Given the description of an element on the screen output the (x, y) to click on. 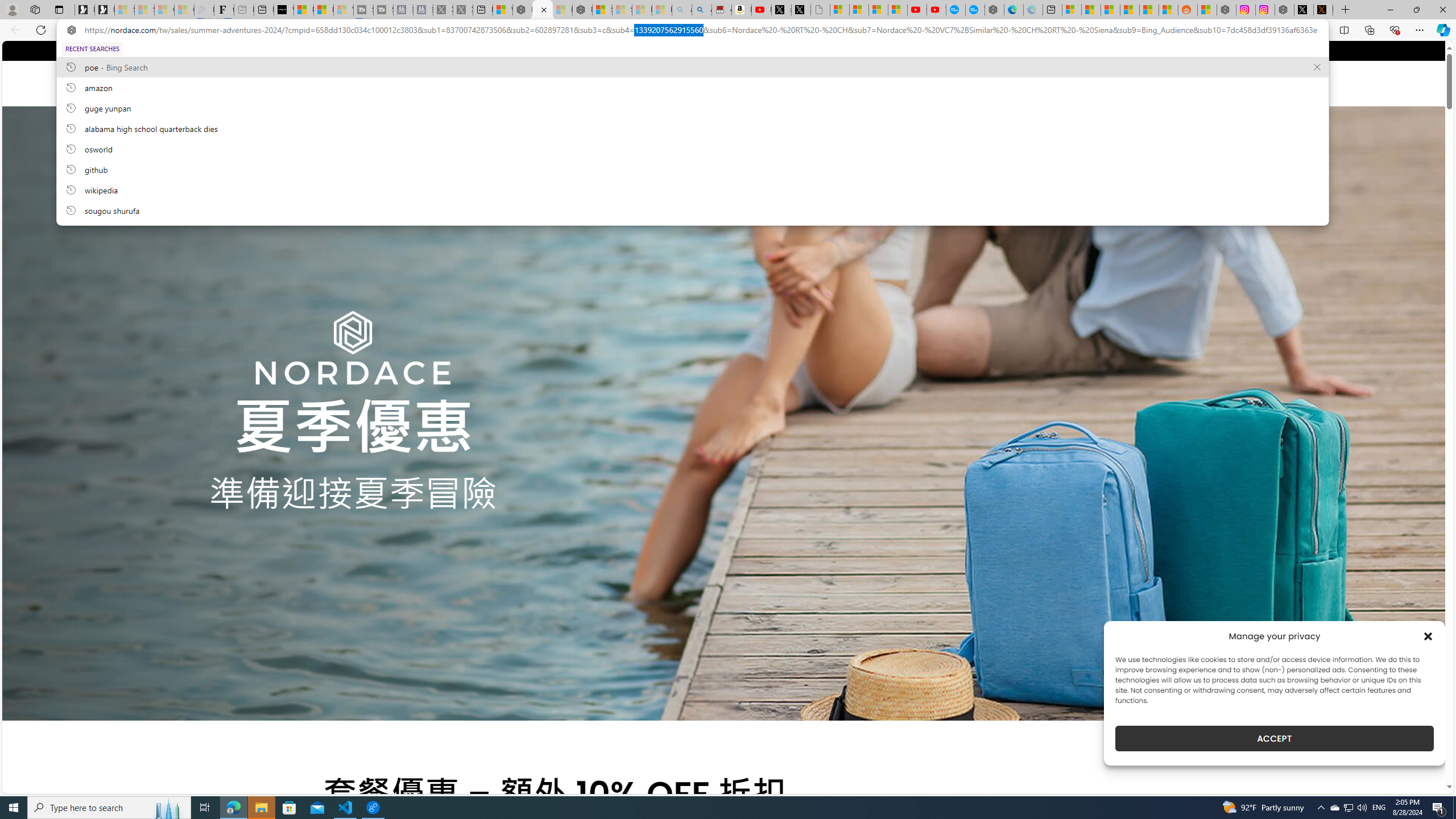
Nordace - Nordace Siena Is Not An Ordinary Backpack (581, 9)
Split screen (1344, 29)
help.x.com | 524: A timeout occurred (1323, 9)
 0  (1115, 83)
Copilot (Ctrl+Shift+.) (1442, 29)
Restore (1416, 9)
Nordace (374, 83)
X (800, 9)
Back (13, 29)
  0   (1115, 83)
